Given the description of an element on the screen output the (x, y) to click on. 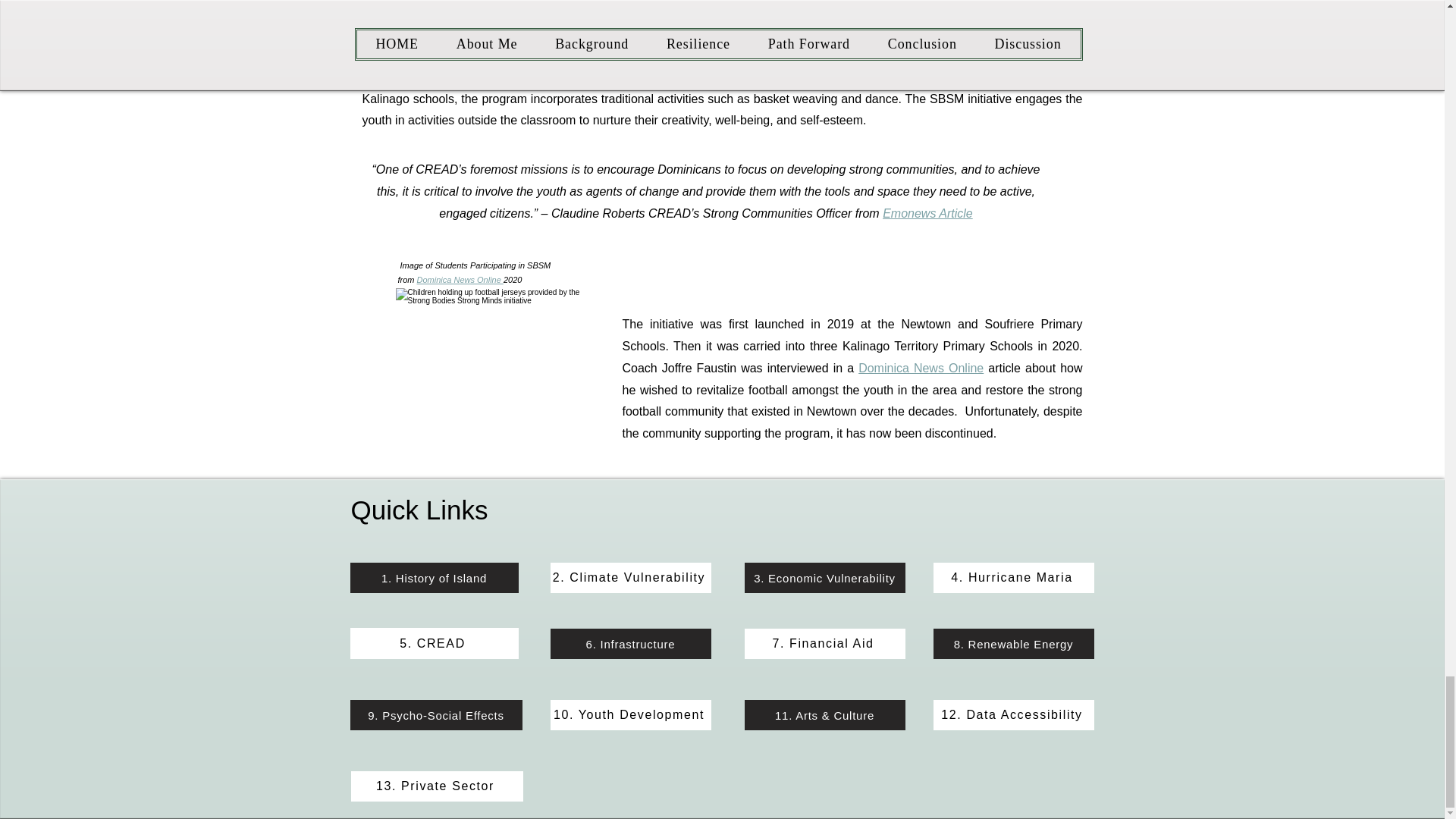
1. History of Island (434, 577)
5. CREAD (434, 643)
2020 (512, 279)
Emonews Article (927, 213)
8. Renewable Energy (1013, 643)
3. Economic Vulnerability (824, 577)
4. Hurricane Maria (1013, 577)
9. Psycho-Social Effects (436, 715)
7. Financial Aid (824, 643)
Dominica News Online (459, 279)
2. Climate Vulnerability (630, 577)
Emonews (528, 32)
Dominica News Online (921, 367)
6. Infrastructure (630, 643)
12. Data Accessibility (1013, 715)
